Given the description of an element on the screen output the (x, y) to click on. 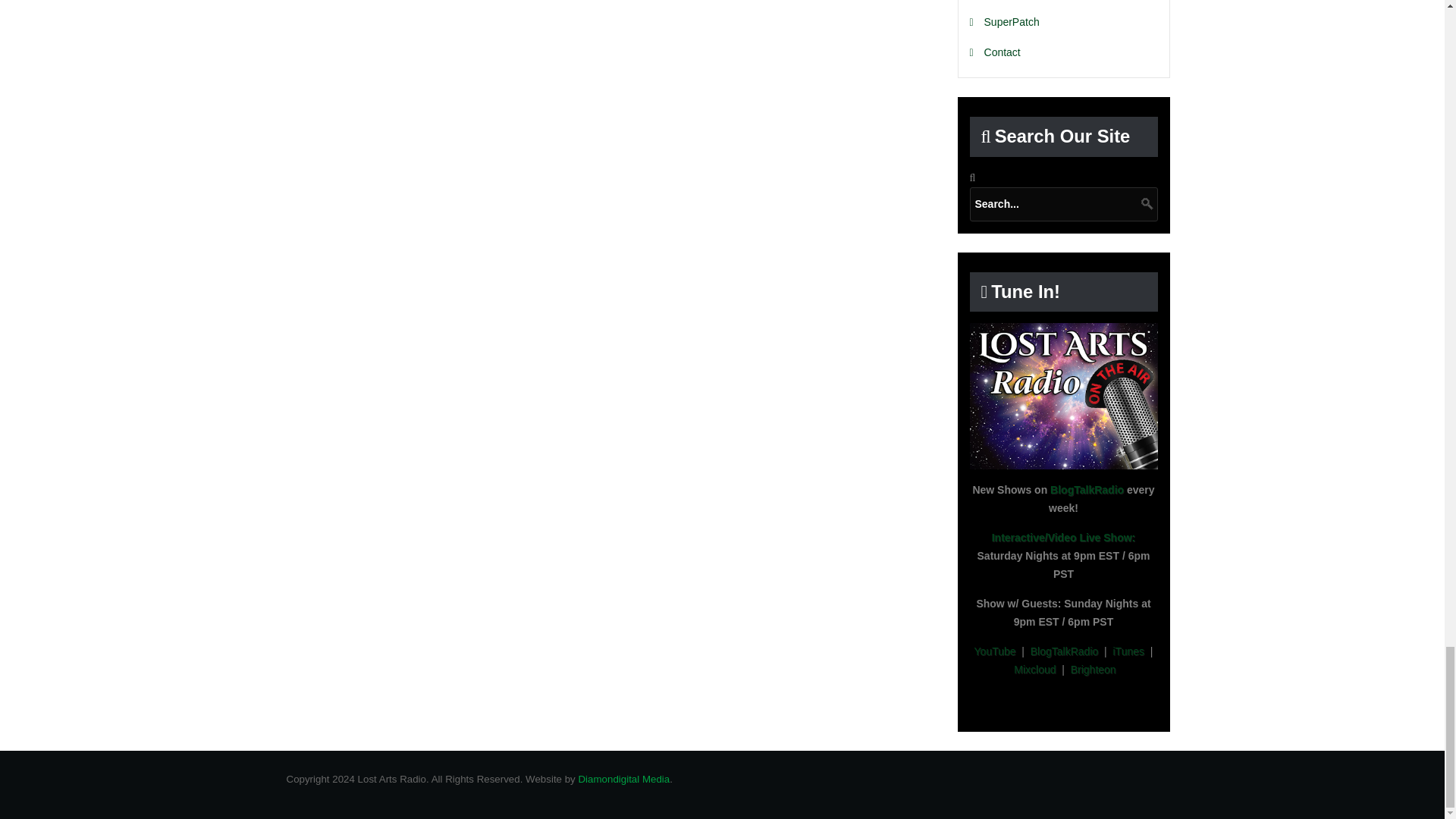
Lost Arts Radio on BlogTalkRadio.com (1063, 395)
